Given the description of an element on the screen output the (x, y) to click on. 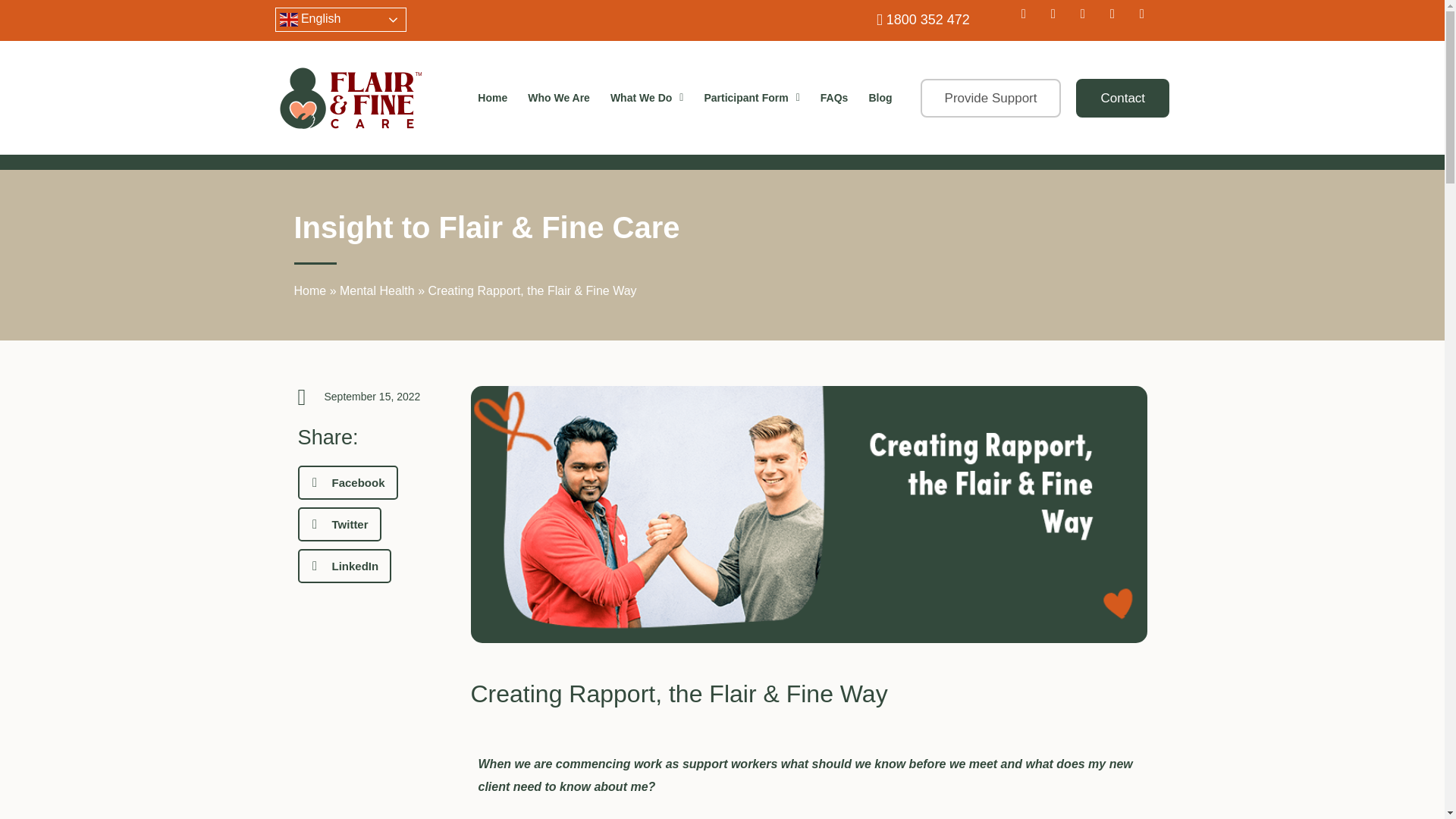
Icon-pinterest-1 (1118, 20)
Home (491, 97)
Icon-instagram1 (1088, 20)
Icon-facebook-1 (1058, 20)
Icon-linkedin-1 (1147, 20)
1800 352 472 (900, 19)
English (340, 19)
Icon-twitter-1 (1029, 20)
